Given the description of an element on the screen output the (x, y) to click on. 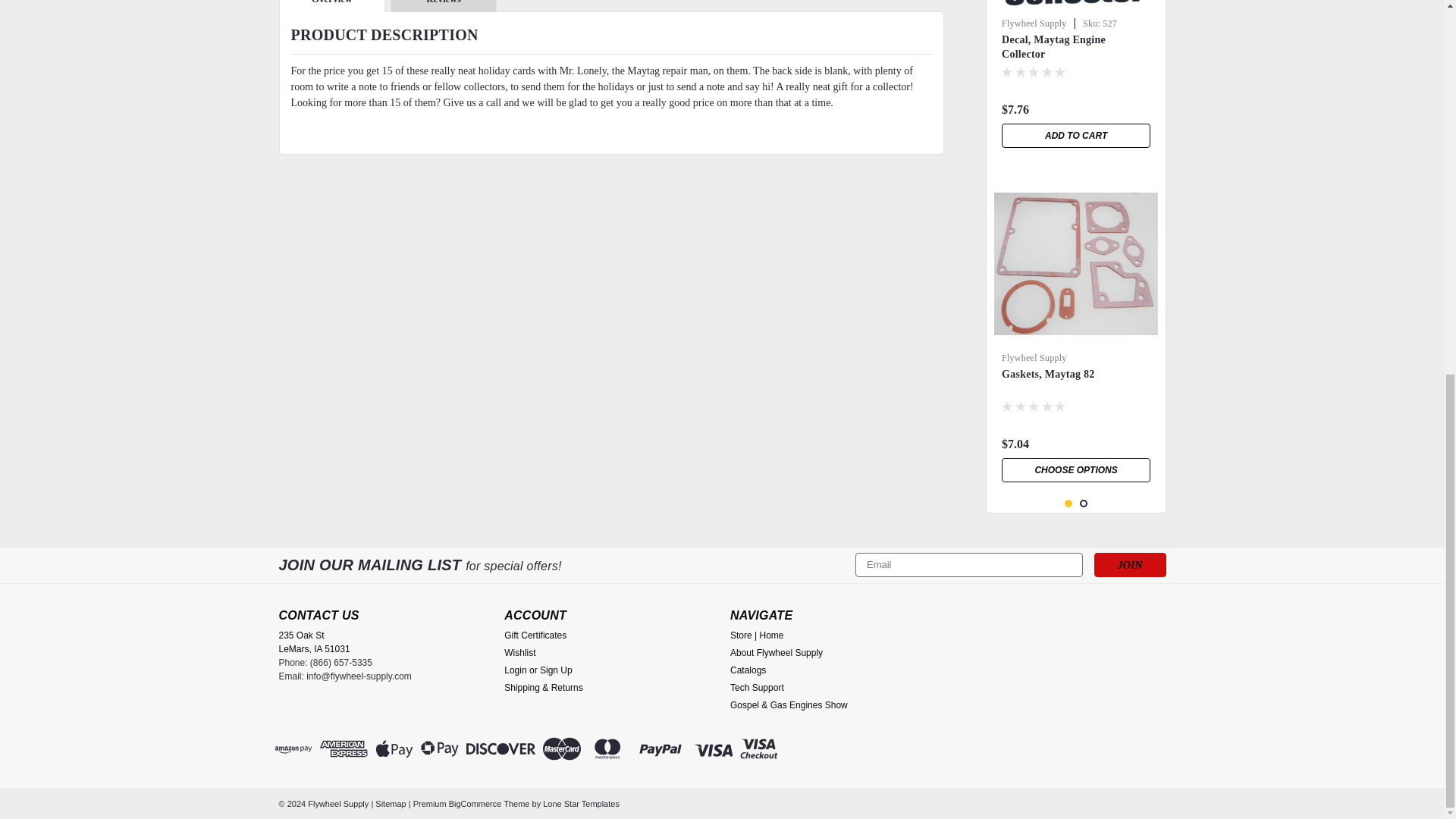
Join (1130, 564)
Decal, Maytag Engine Collector (1075, 5)
